Given the description of an element on the screen output the (x, y) to click on. 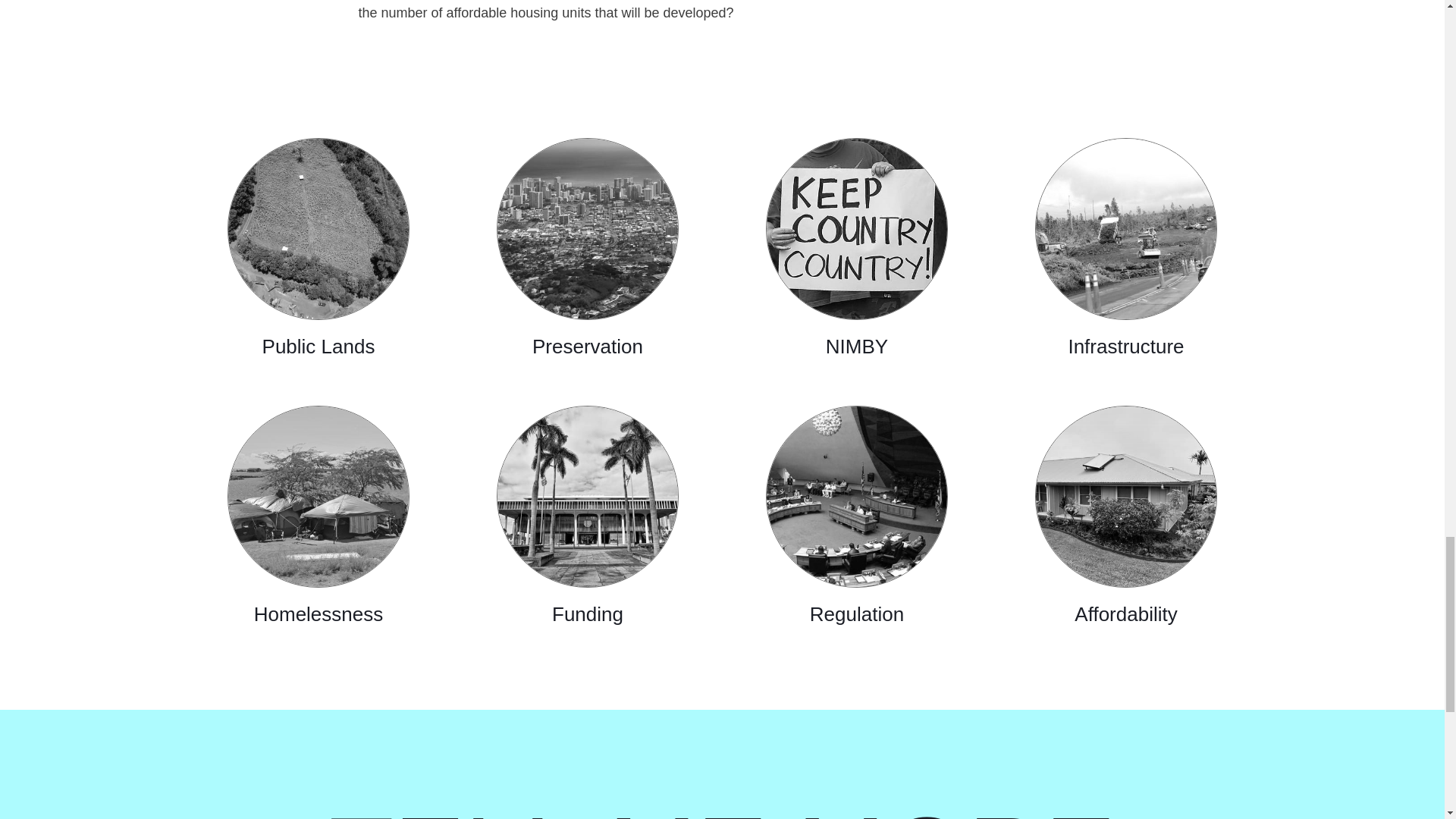
Preservation (587, 248)
Infrastructure (1125, 248)
Affordability (1125, 515)
Public Lands (317, 248)
Regulation (856, 515)
NIMBY (856, 248)
Funding (587, 515)
Homelessness (317, 515)
